Given the description of an element on the screen output the (x, y) to click on. 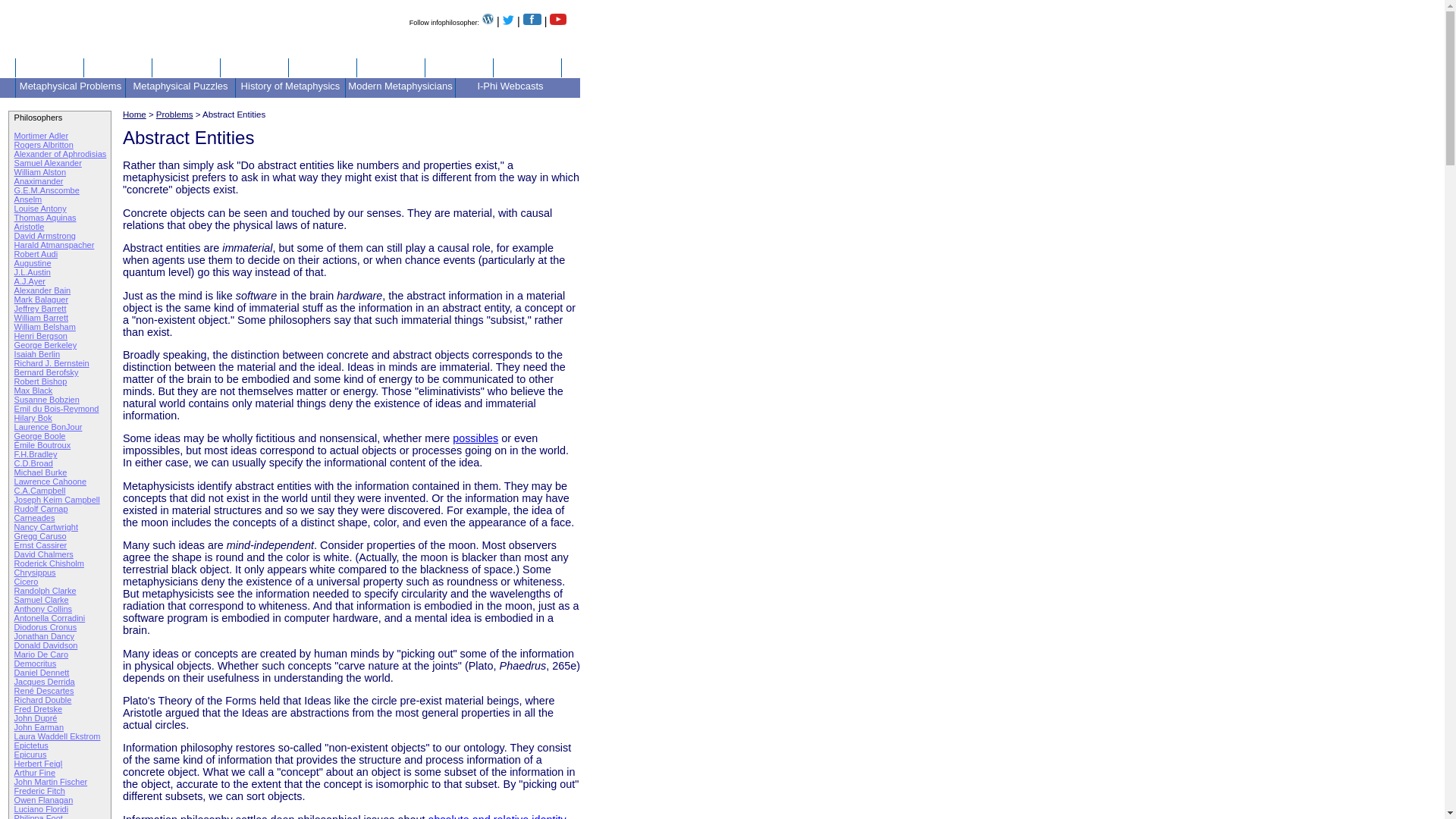
I-Phi Webcasts (509, 85)
Knowledge (117, 66)
infophilosopher on YouTube (558, 21)
Introduction (49, 66)
Go to Metaphysicist home page (26, 49)
i-phi.org on WordPress (487, 21)
Metaphysical Problems (70, 85)
Metaphysical Puzzles (179, 85)
Afterword (526, 66)
Mind (322, 66)
